Given the description of an element on the screen output the (x, y) to click on. 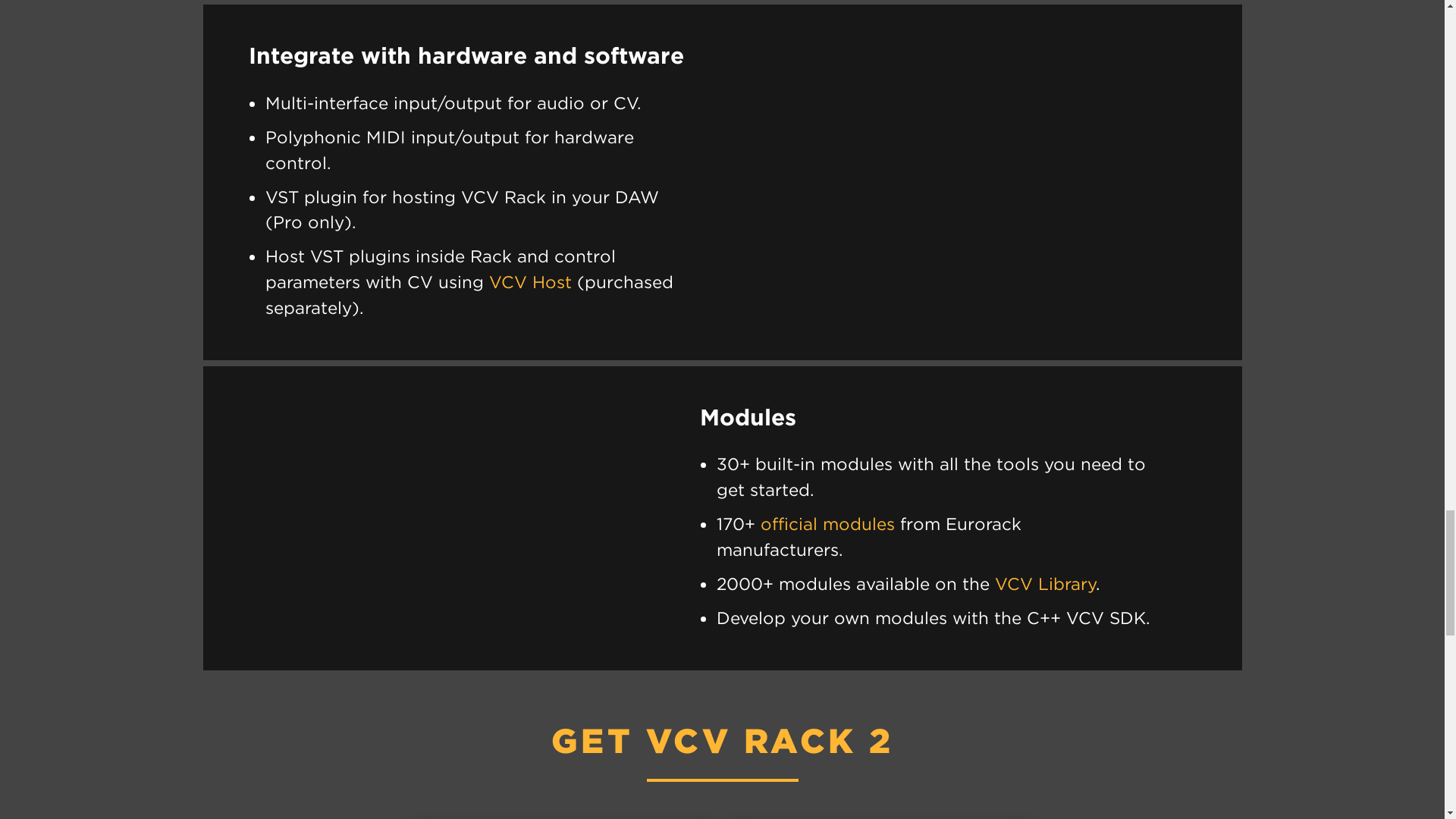
VCV Library (1045, 583)
official modules (827, 523)
VCV Host (530, 281)
